Given the description of an element on the screen output the (x, y) to click on. 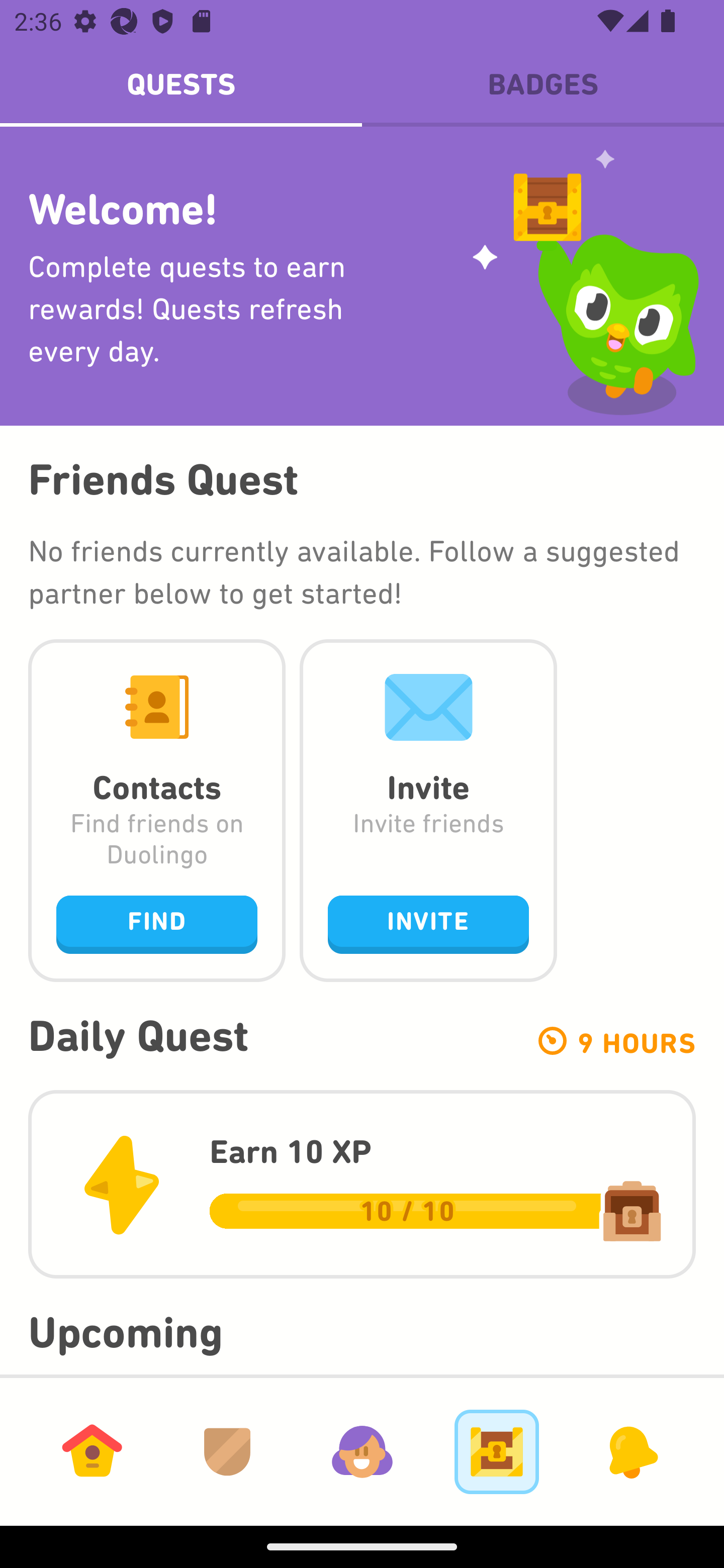
BADGES (543, 84)
FIND (156, 924)
INVITE (428, 924)
Learn Tab (91, 1451)
Leagues Tab (227, 1451)
Profile Tab (361, 1451)
Goals Tab (496, 1451)
News Tab (631, 1451)
